Given the description of an element on the screen output the (x, y) to click on. 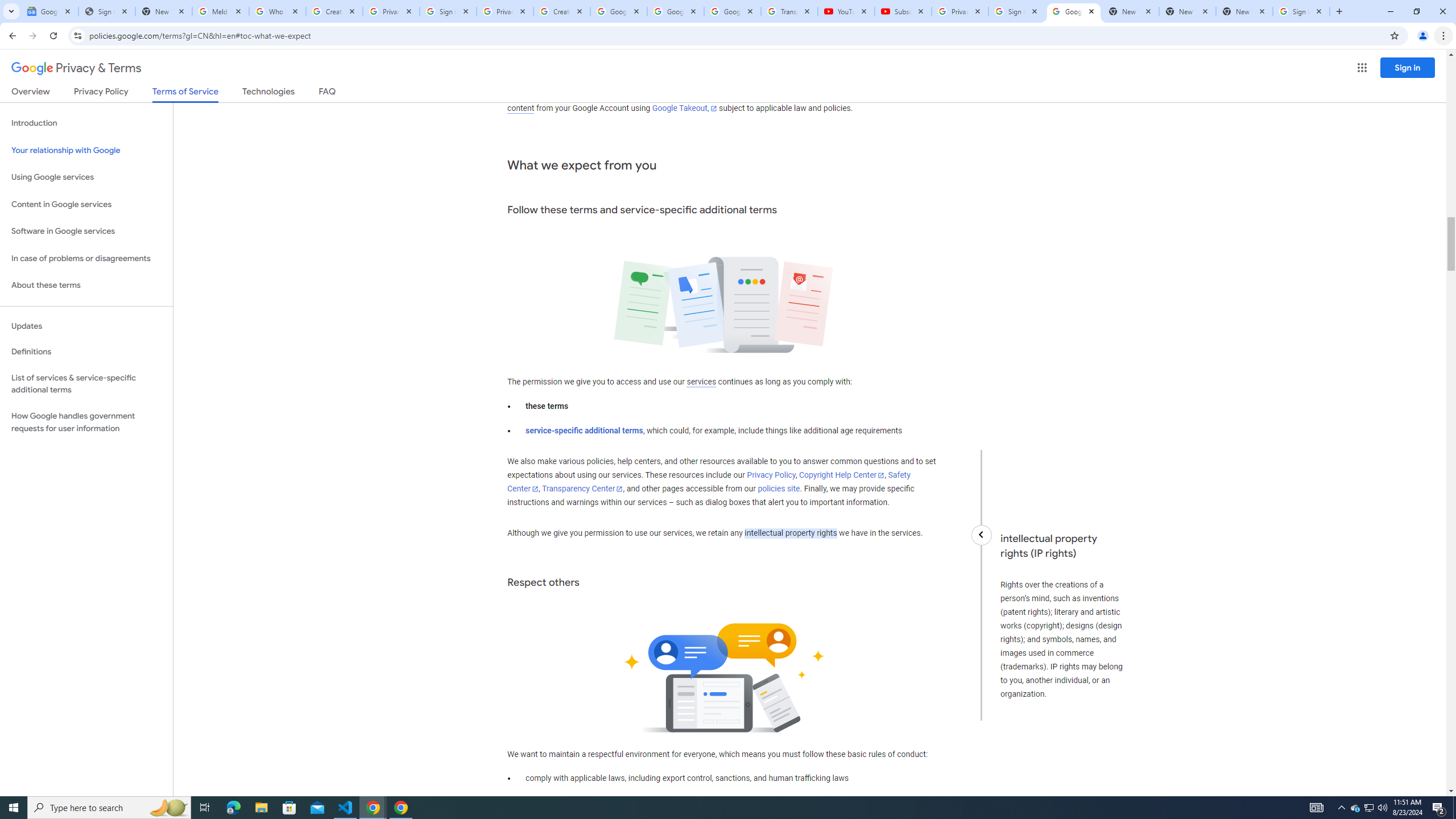
Google Takeout, (684, 108)
Create your Google Account (334, 11)
Using Google services (86, 176)
Transparency Center (582, 488)
Copyright Help Center (841, 475)
Subscriptions - YouTube (902, 11)
Software in Google services (86, 230)
YouTube (845, 11)
About these terms (86, 284)
